Given the description of an element on the screen output the (x, y) to click on. 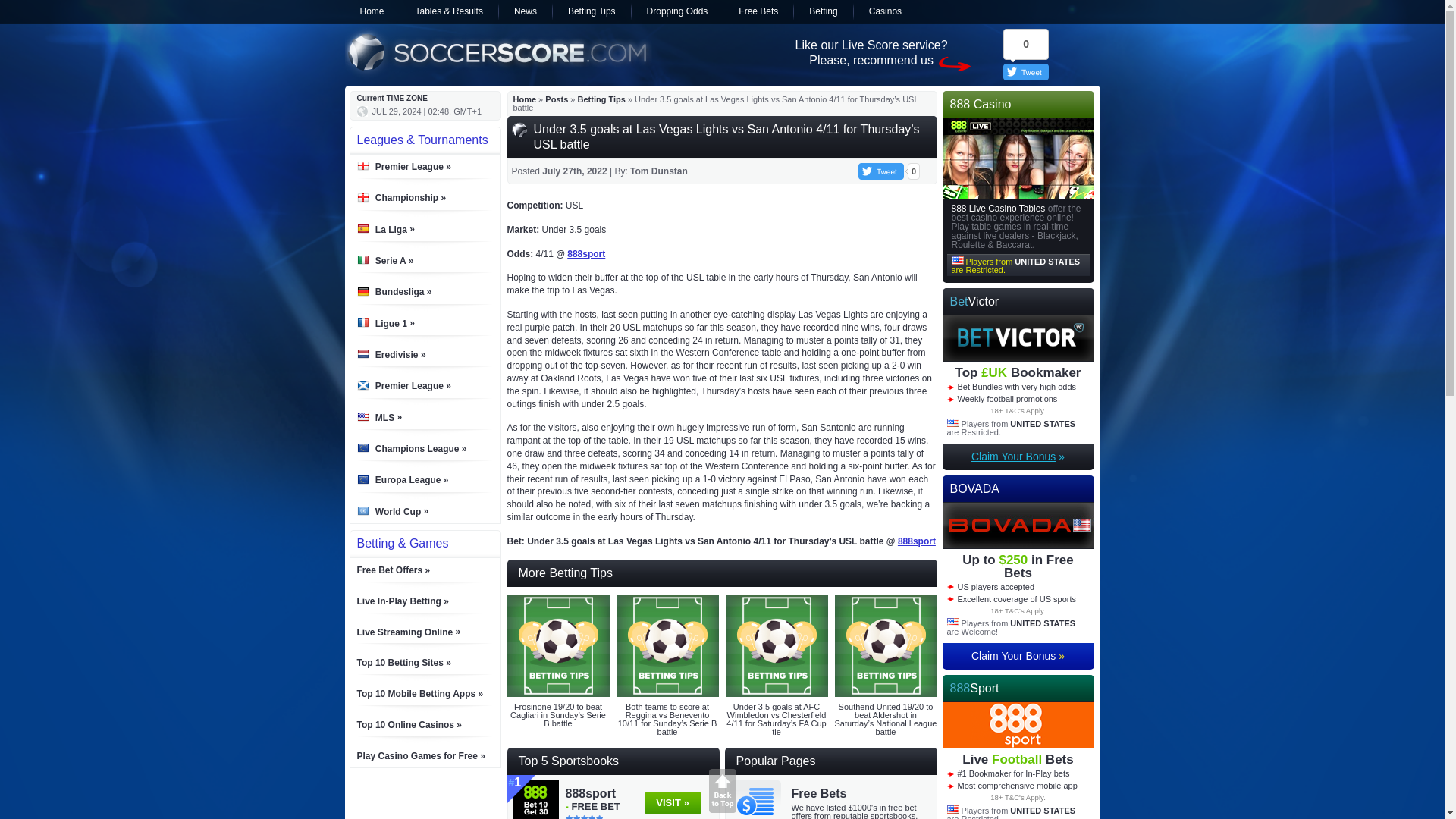
Betting Tips (602, 99)
Top 10 Mobile Betting Apps (419, 693)
Serie A (394, 260)
Casinos (885, 11)
Premier League (413, 166)
Play Casino Games for Free (420, 756)
Home (370, 11)
Ligue 1 (394, 322)
Home (523, 99)
888sport (586, 253)
Top 10 Online Casinos (408, 724)
Premier League (413, 385)
Live In-Play Betting (402, 601)
Betting (822, 11)
Live Streaming Online (408, 631)
